Given the description of an element on the screen output the (x, y) to click on. 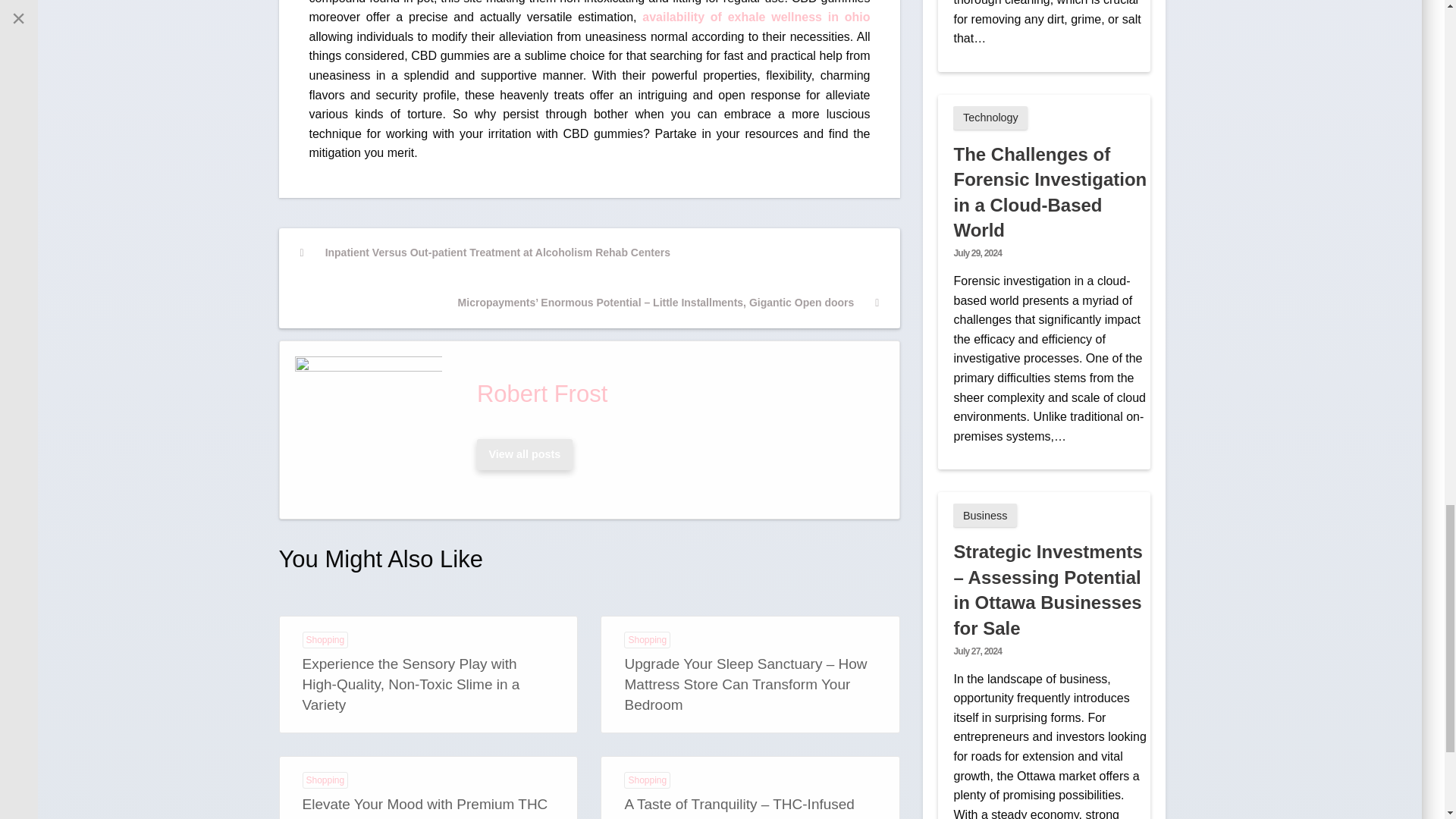
Robert Frost (523, 453)
View all posts (523, 453)
availability of exhale wellness in ohio (755, 16)
Robert Frost (674, 393)
View all posts (524, 454)
Elevate Your Mood with Premium THC Gummies (424, 807)
Shopping (324, 639)
Shopping (646, 639)
Shopping (324, 780)
